Given the description of an element on the screen output the (x, y) to click on. 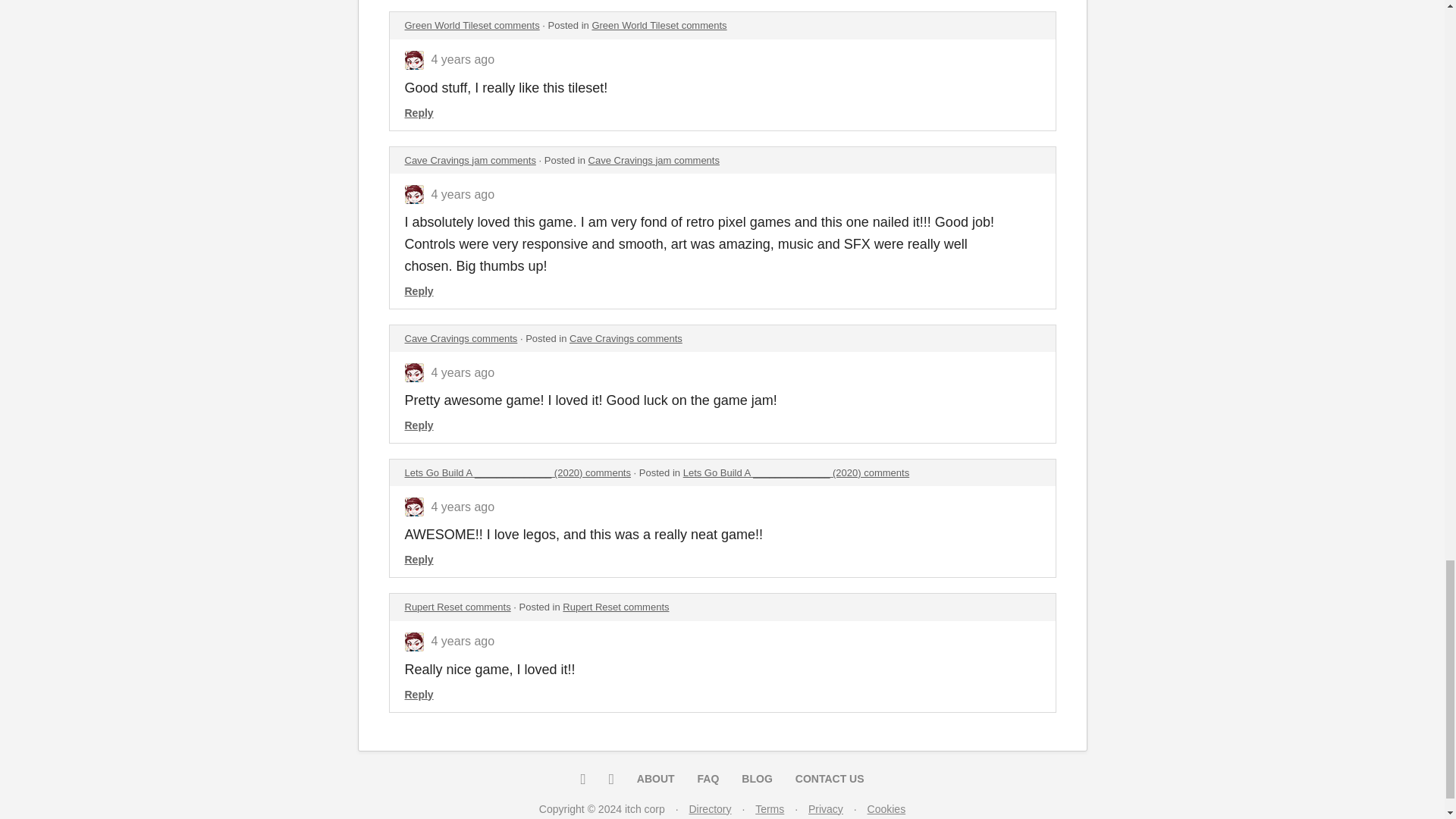
2020-04-11 01:43:42 (462, 59)
2020-04-10 03:17:11 (462, 640)
2020-04-10 05:41:02 (462, 194)
2020-04-10 05:38:50 (462, 372)
2020-04-10 03:31:12 (462, 506)
